Given the description of an element on the screen output the (x, y) to click on. 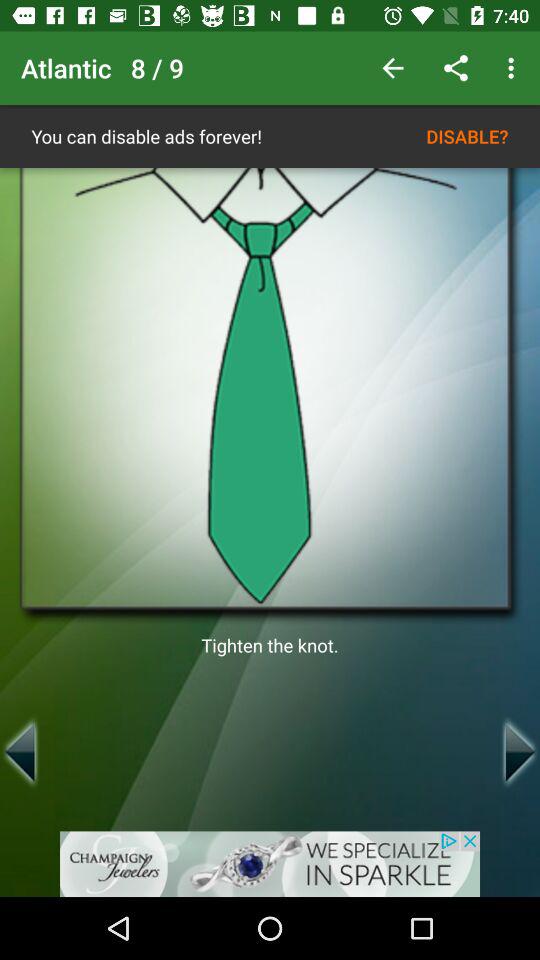
click advertisement (270, 864)
